Given the description of an element on the screen output the (x, y) to click on. 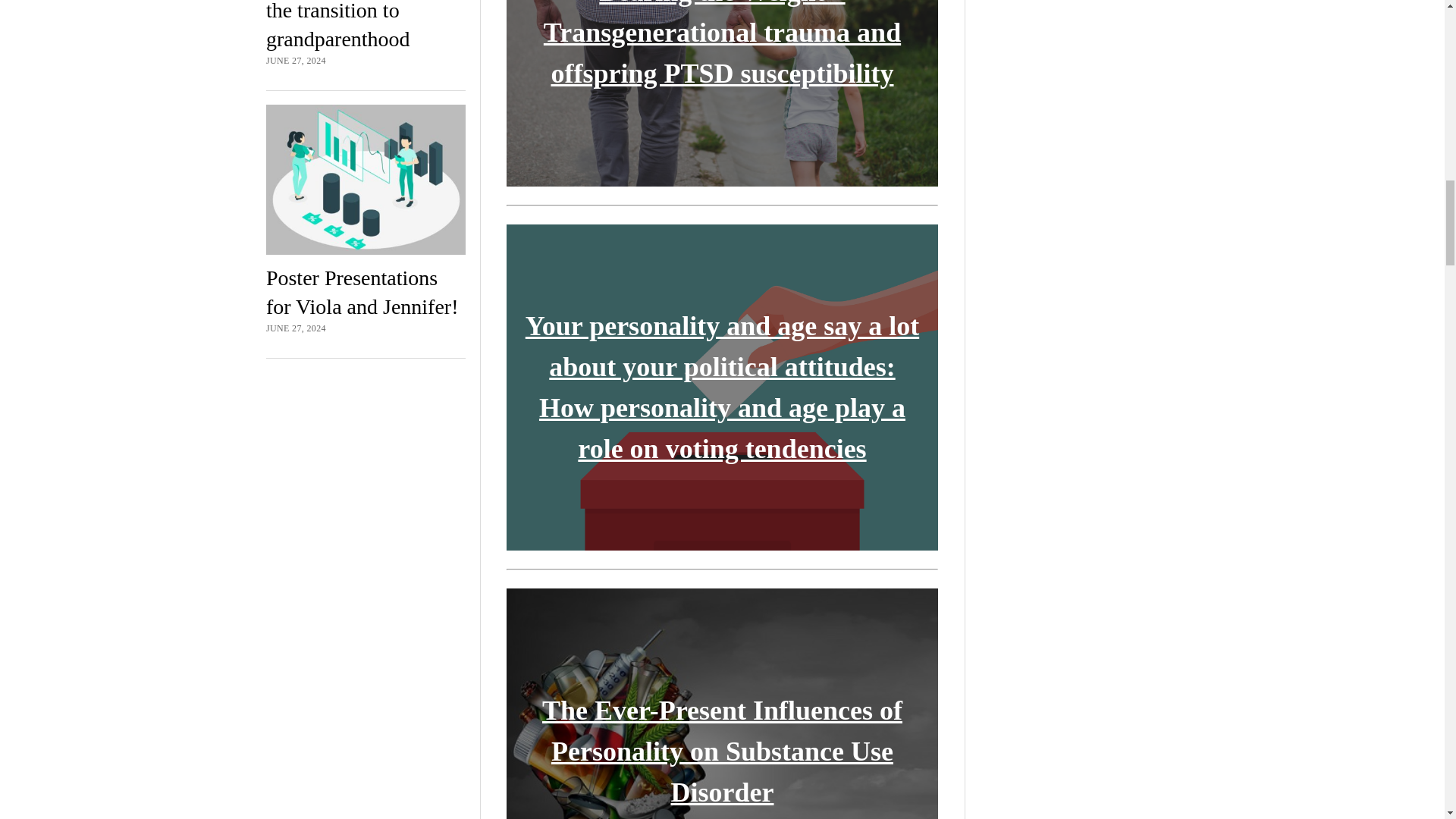
Poster Presentations for Viola and Jennifer! (362, 292)
